Given the description of an element on the screen output the (x, y) to click on. 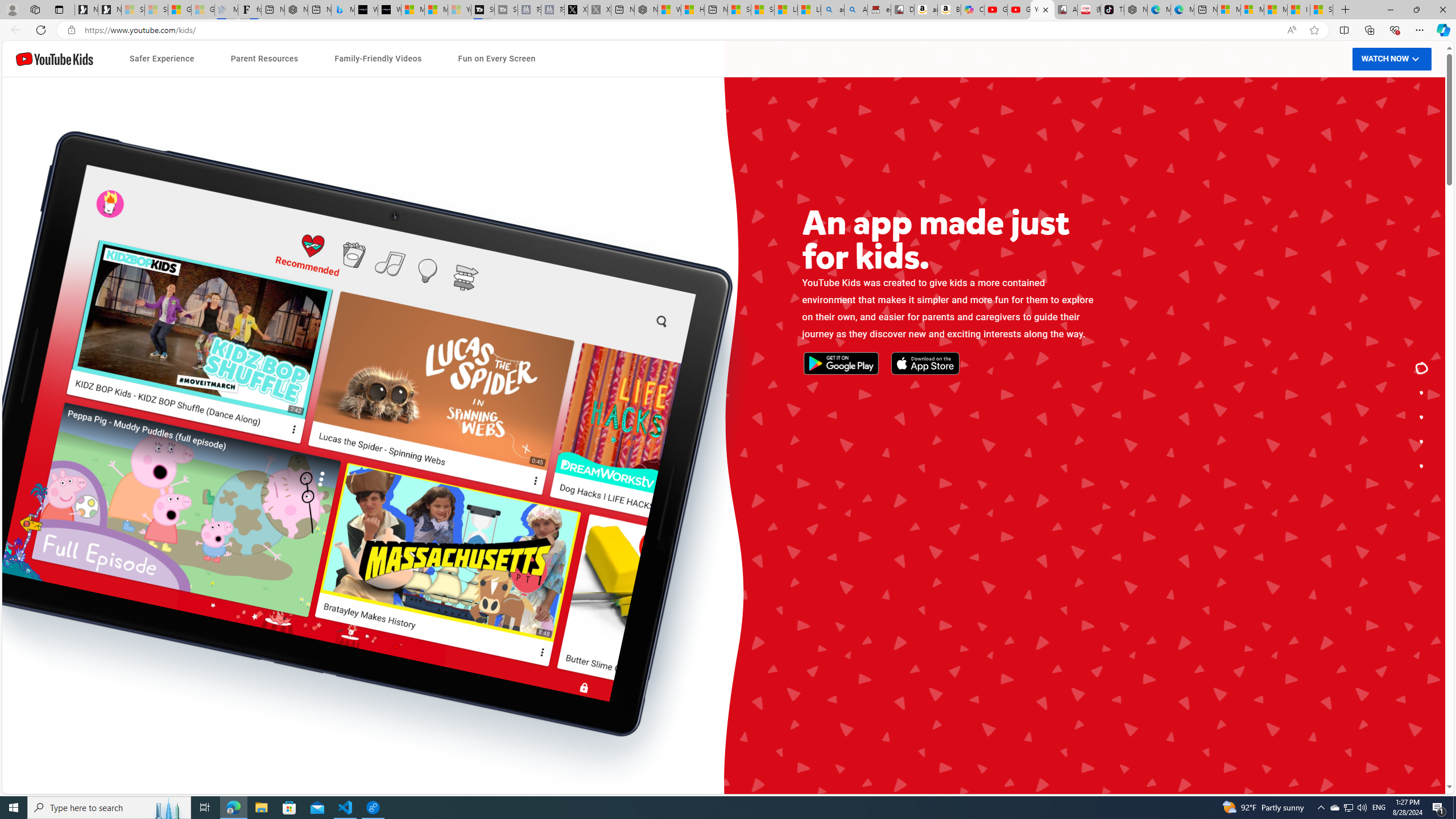
01 Parent Approved + Collections (496, 479)
Safer Experience (162, 58)
YouTube Kids (54, 58)
03Timer (496, 526)
Nordace - My Account (645, 9)
02 Content Level by Age (496, 502)
Tips and tools for your family. (1421, 417)
03 Timer (496, 526)
Class: ytk__arrow-link-icon (914, 519)
